Given the description of an element on the screen output the (x, y) to click on. 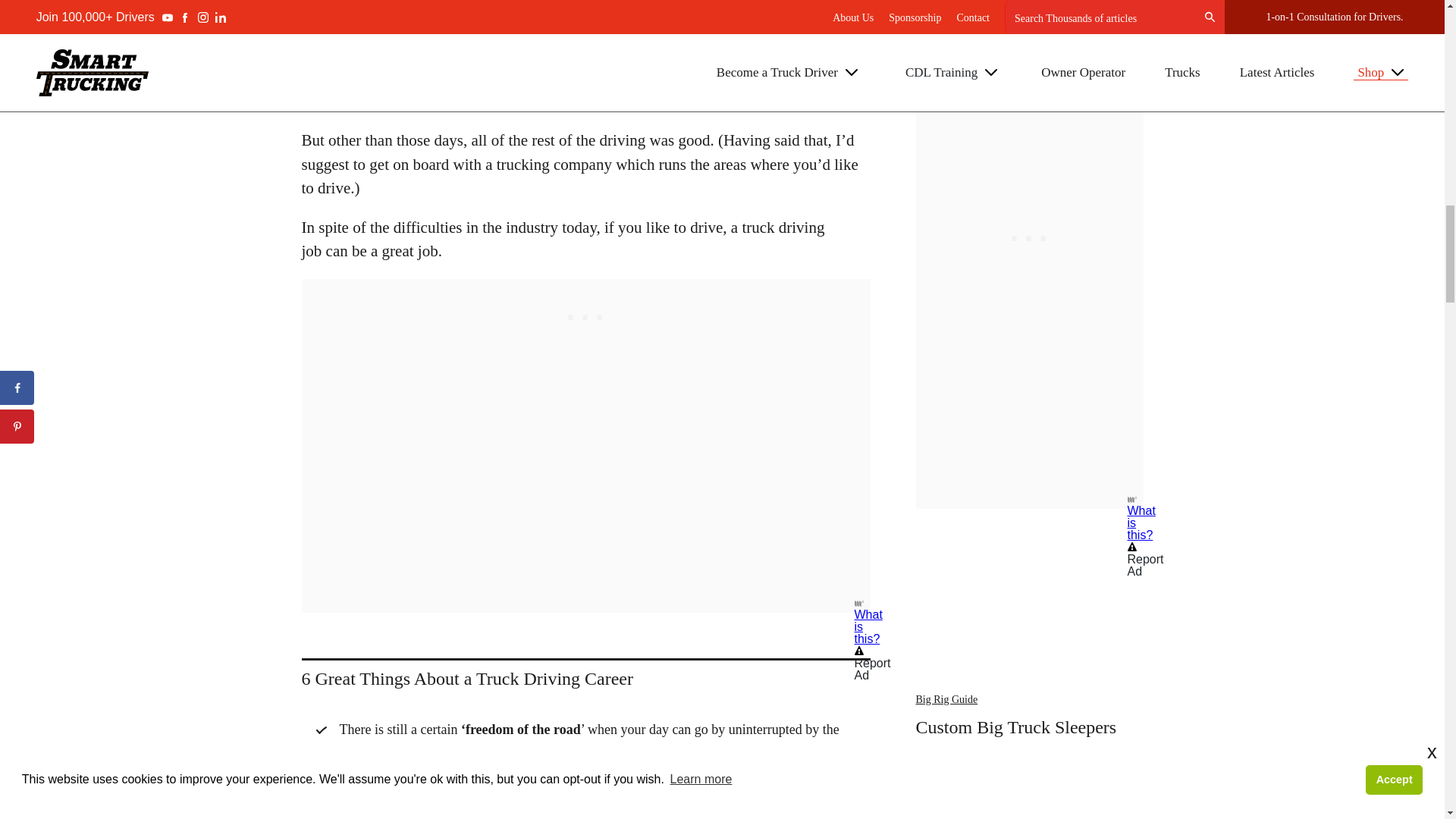
3rd party ad content (1028, 148)
3rd party ad content (584, 313)
